Given the description of an element on the screen output the (x, y) to click on. 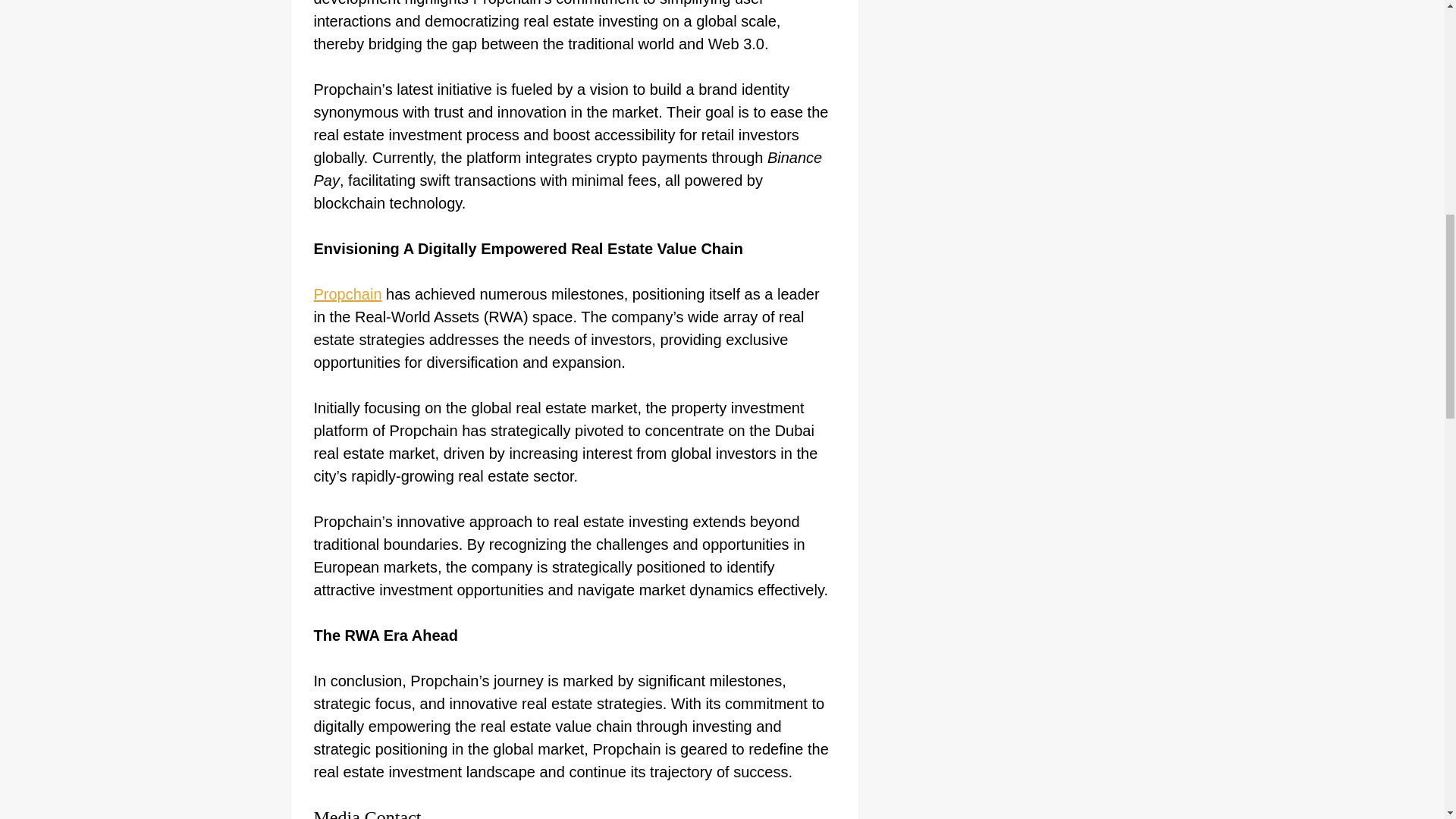
Propchain (347, 293)
